Given the description of an element on the screen output the (x, y) to click on. 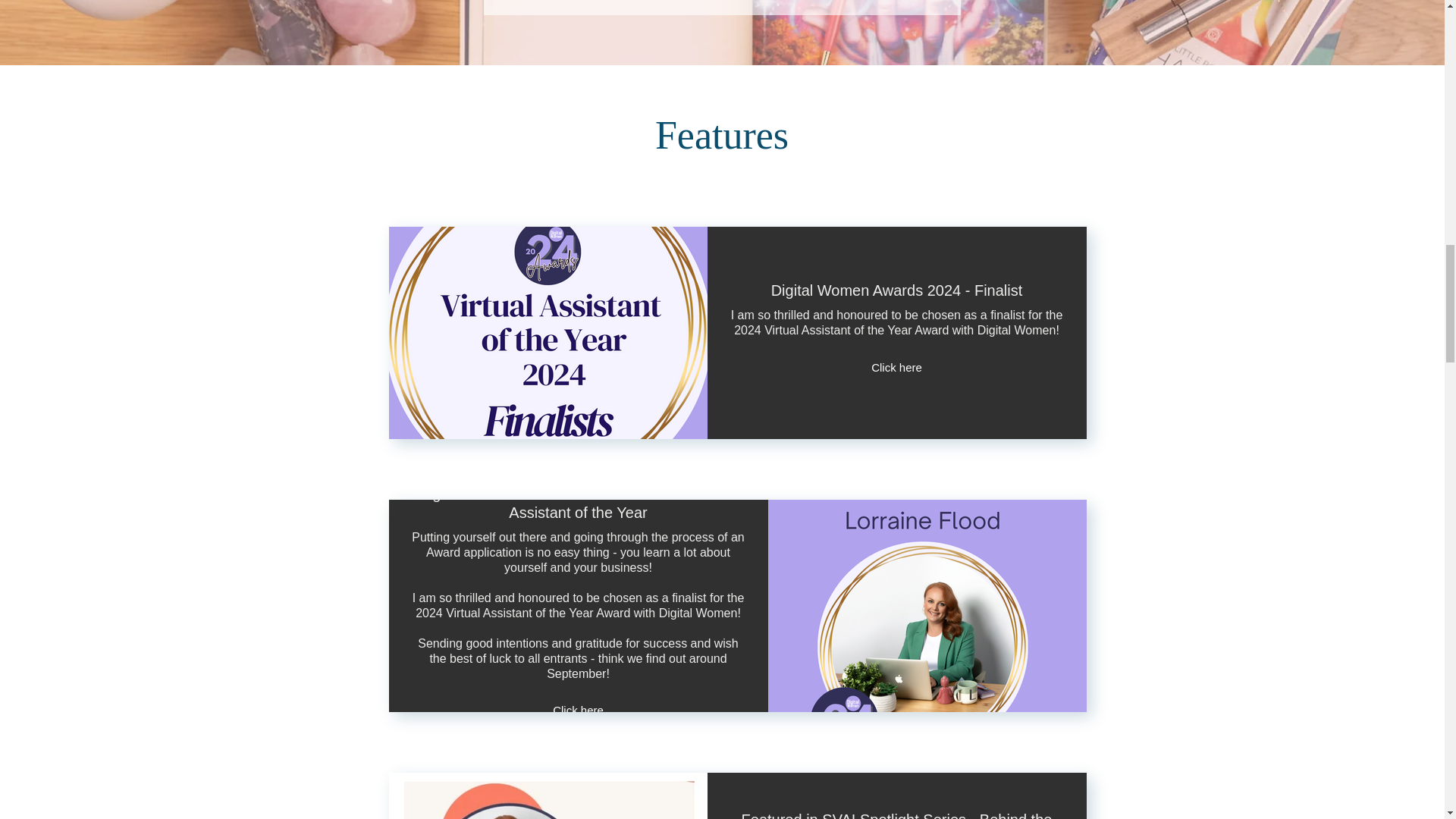
Click here (897, 367)
Click here (578, 710)
